Given the description of an element on the screen output the (x, y) to click on. 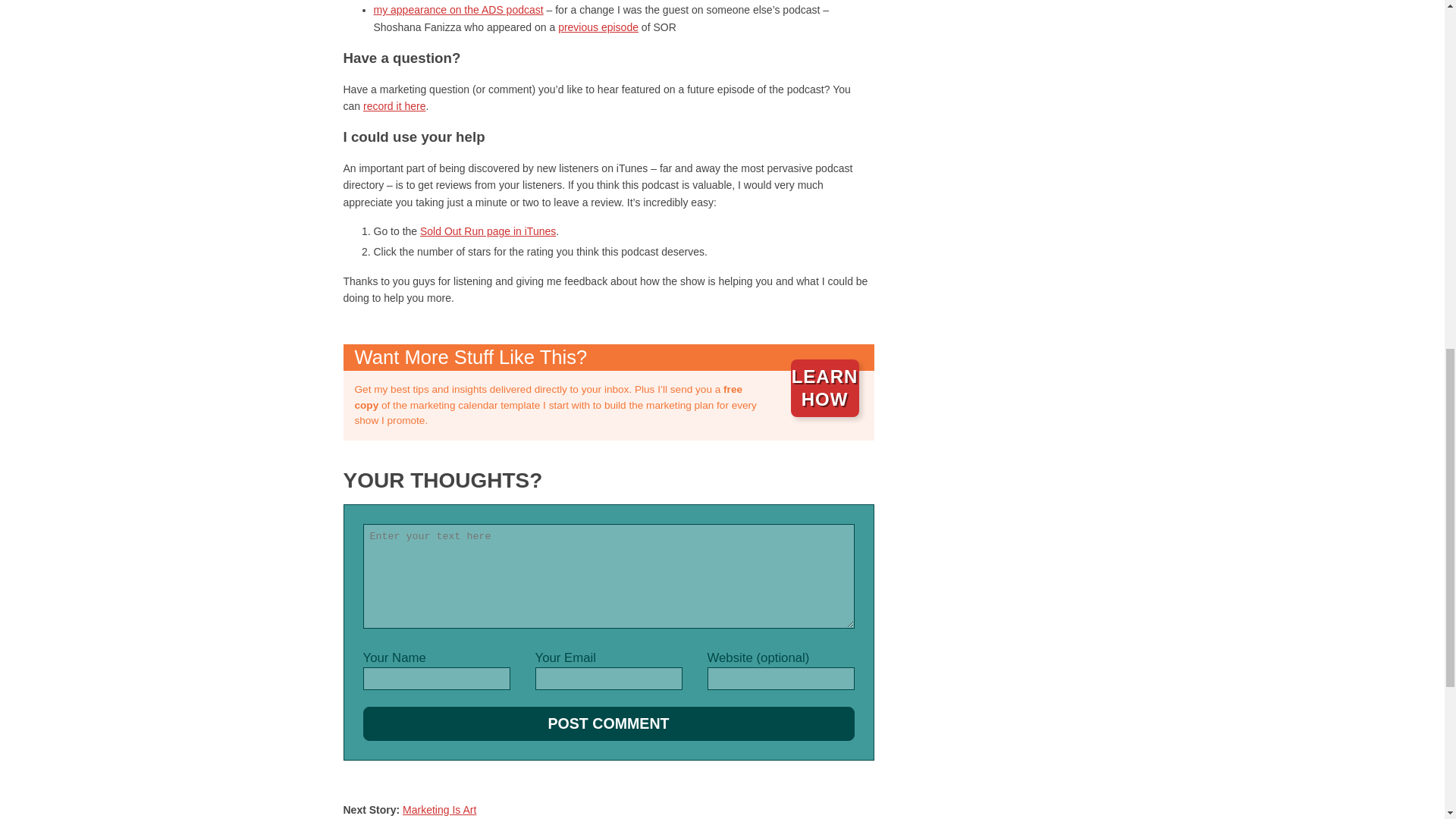
Post Comment (607, 723)
Post Comment (607, 723)
record it here (393, 105)
Marketing Is Art (439, 809)
Sold Out Run page in iTunes (488, 231)
my appearance on the ADS podcast (457, 9)
SOR 023: Shoshana Fanizza (598, 27)
previous episode (598, 27)
LEARN HOW (824, 387)
